Given the description of an element on the screen output the (x, y) to click on. 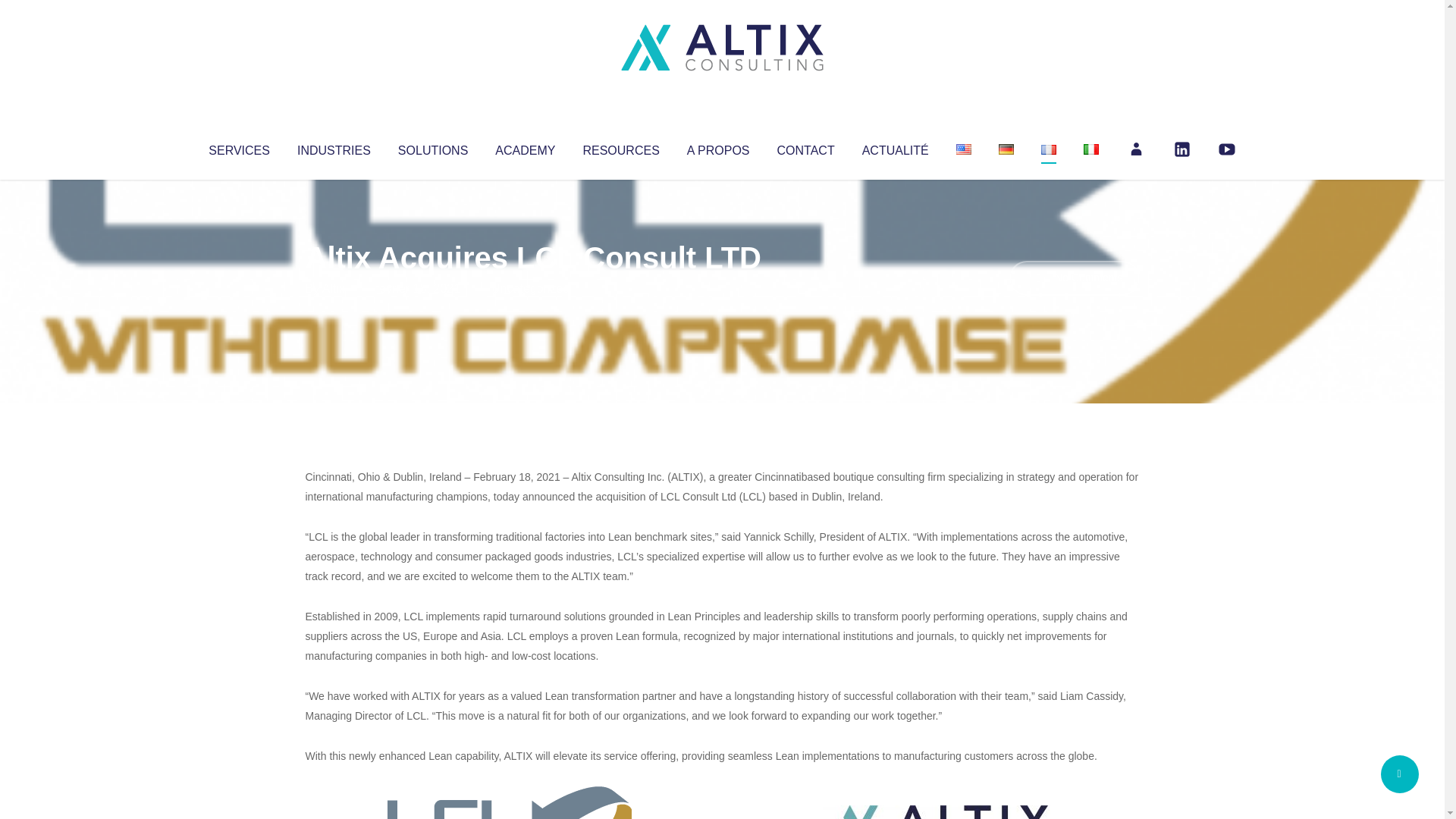
INDUSTRIES (334, 146)
SOLUTIONS (432, 146)
Altix (333, 287)
A PROPOS (718, 146)
No Comments (1073, 278)
Uncategorized (530, 287)
RESOURCES (620, 146)
SERVICES (238, 146)
Articles par Altix (333, 287)
ACADEMY (524, 146)
